Given the description of an element on the screen output the (x, y) to click on. 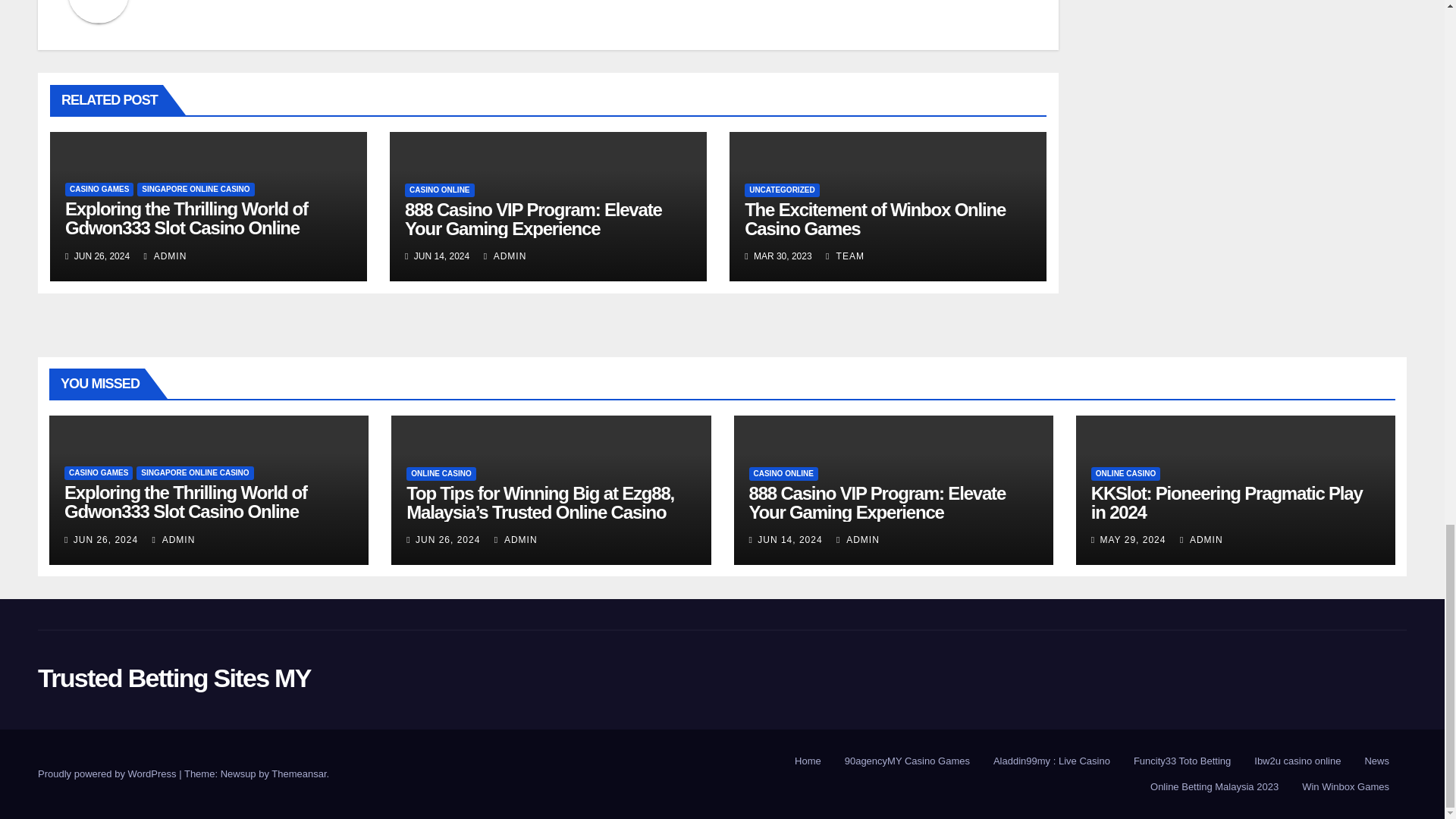
CASINO GAMES (99, 189)
Permalink to: The Excitement of Winbox Online Casino Games (875, 219)
Home (808, 760)
ADMIN (165, 255)
SINGAPORE ONLINE CASINO (194, 189)
Permalink to: KKSlot: Pioneering Pragmatic Play in 2024 (1226, 502)
